Given the description of an element on the screen output the (x, y) to click on. 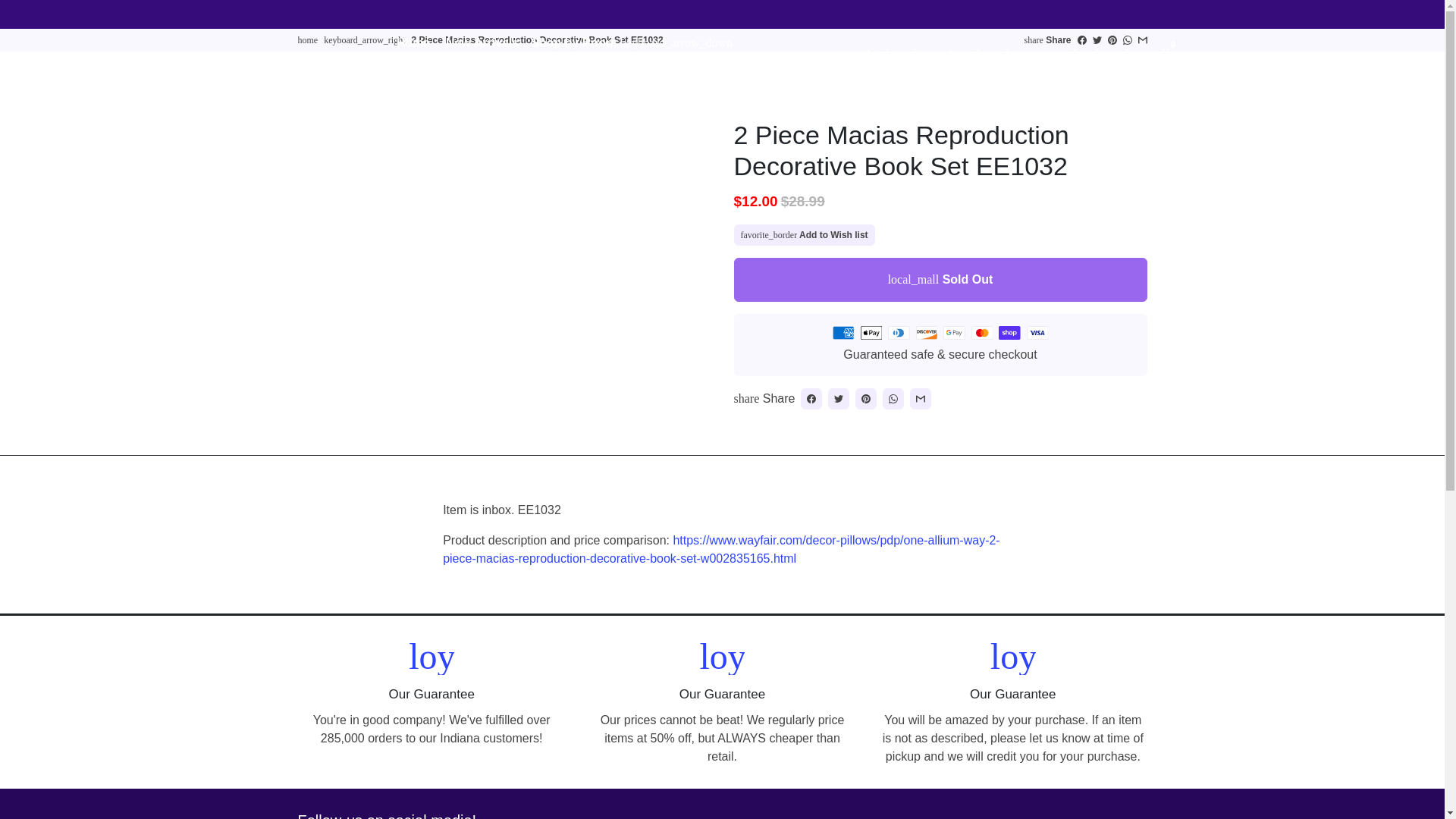
Apple Pay (870, 332)
Google Pay (954, 332)
American Express (843, 332)
Discover (926, 332)
Mastercard (981, 332)
Home (412, 42)
Search (1058, 54)
Log In (845, 54)
Cart (1131, 54)
My Wish List (966, 54)
Diners Club (899, 332)
New Arrivals (481, 42)
Visa (1037, 332)
Shop Pay (1009, 332)
